Given the description of an element on the screen output the (x, y) to click on. 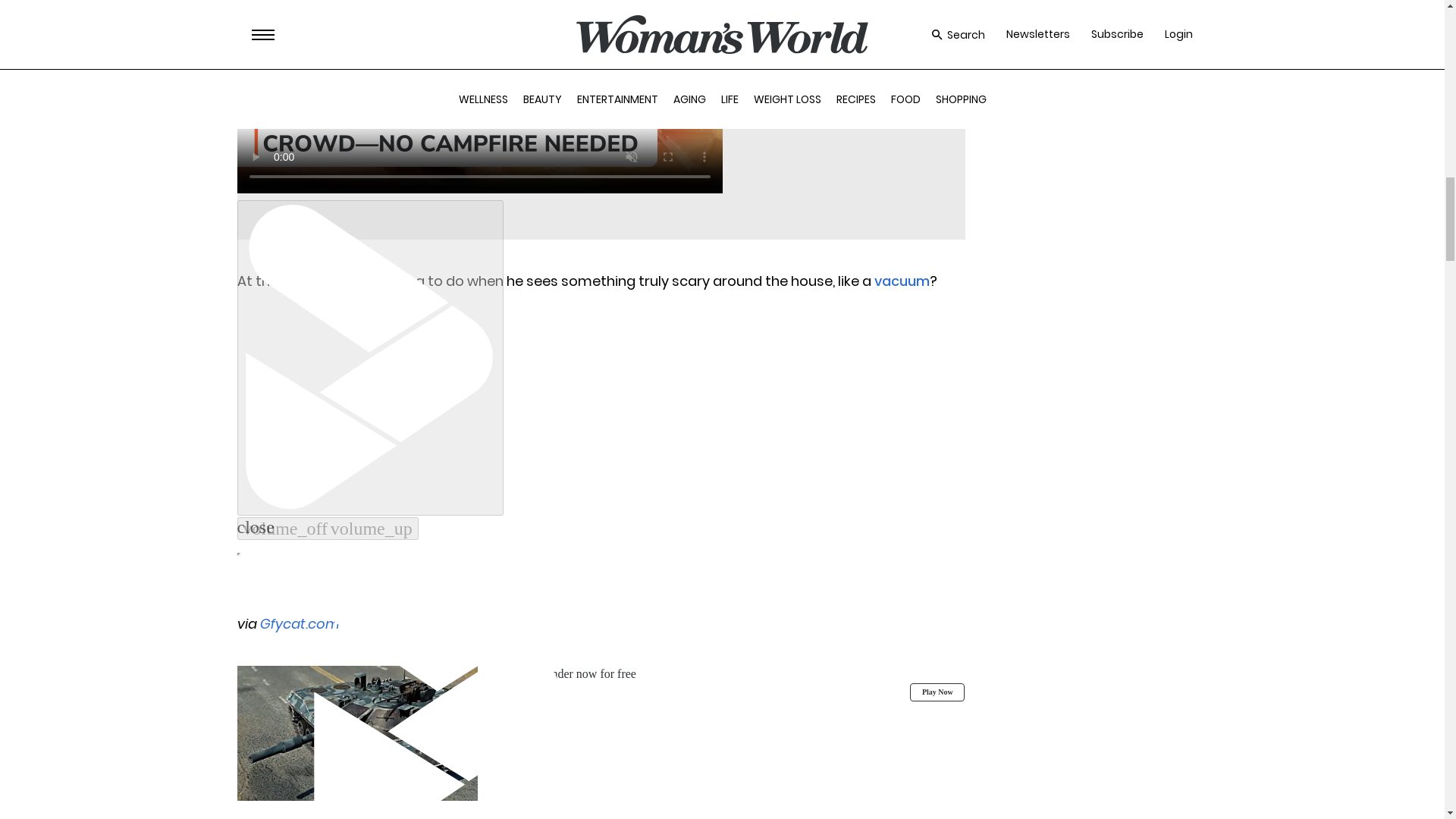
Play War Thunder now for free (601, 683)
